Given the description of an element on the screen output the (x, y) to click on. 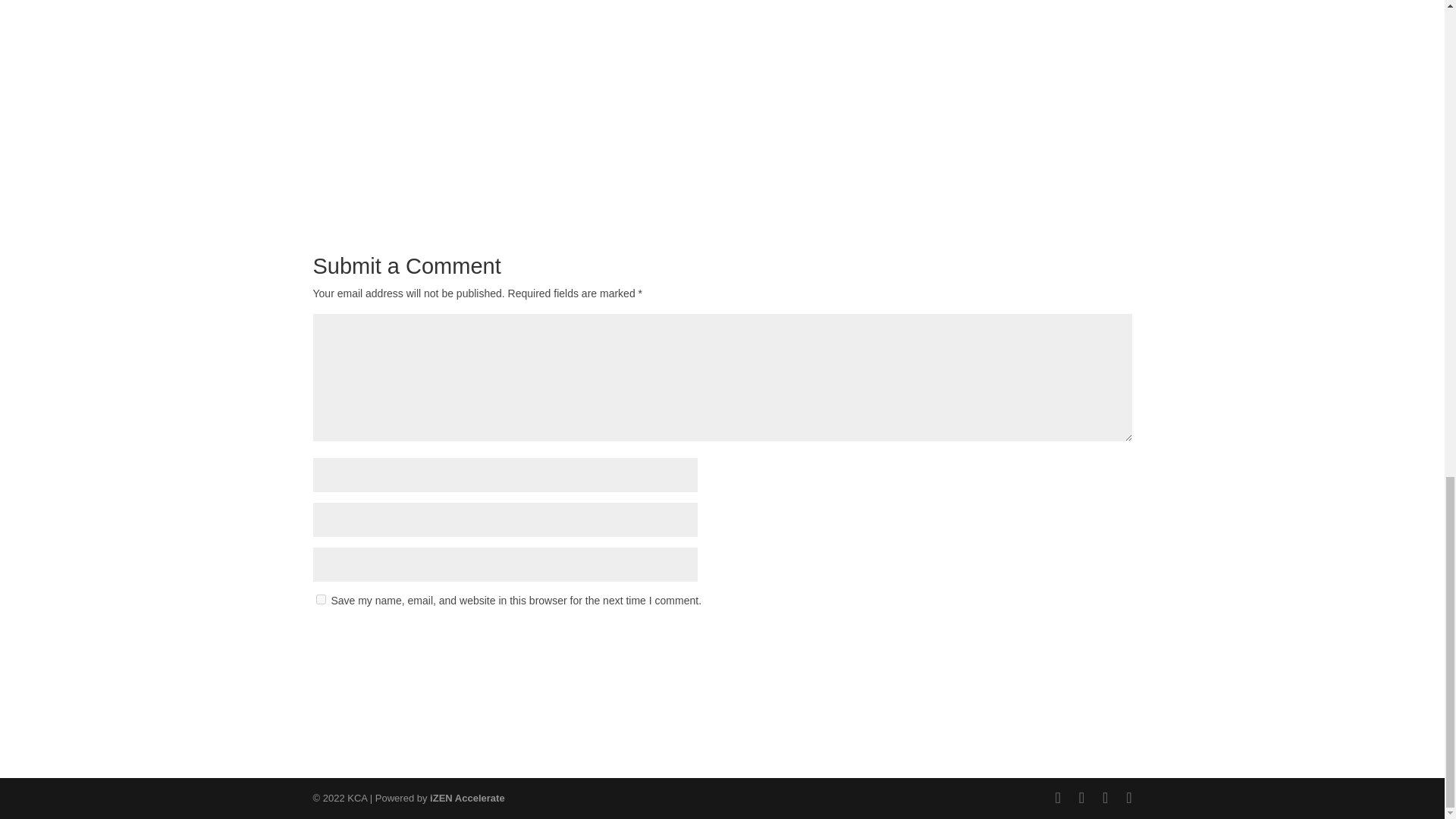
Submit Comment (1056, 638)
yes (319, 599)
